Given the description of an element on the screen output the (x, y) to click on. 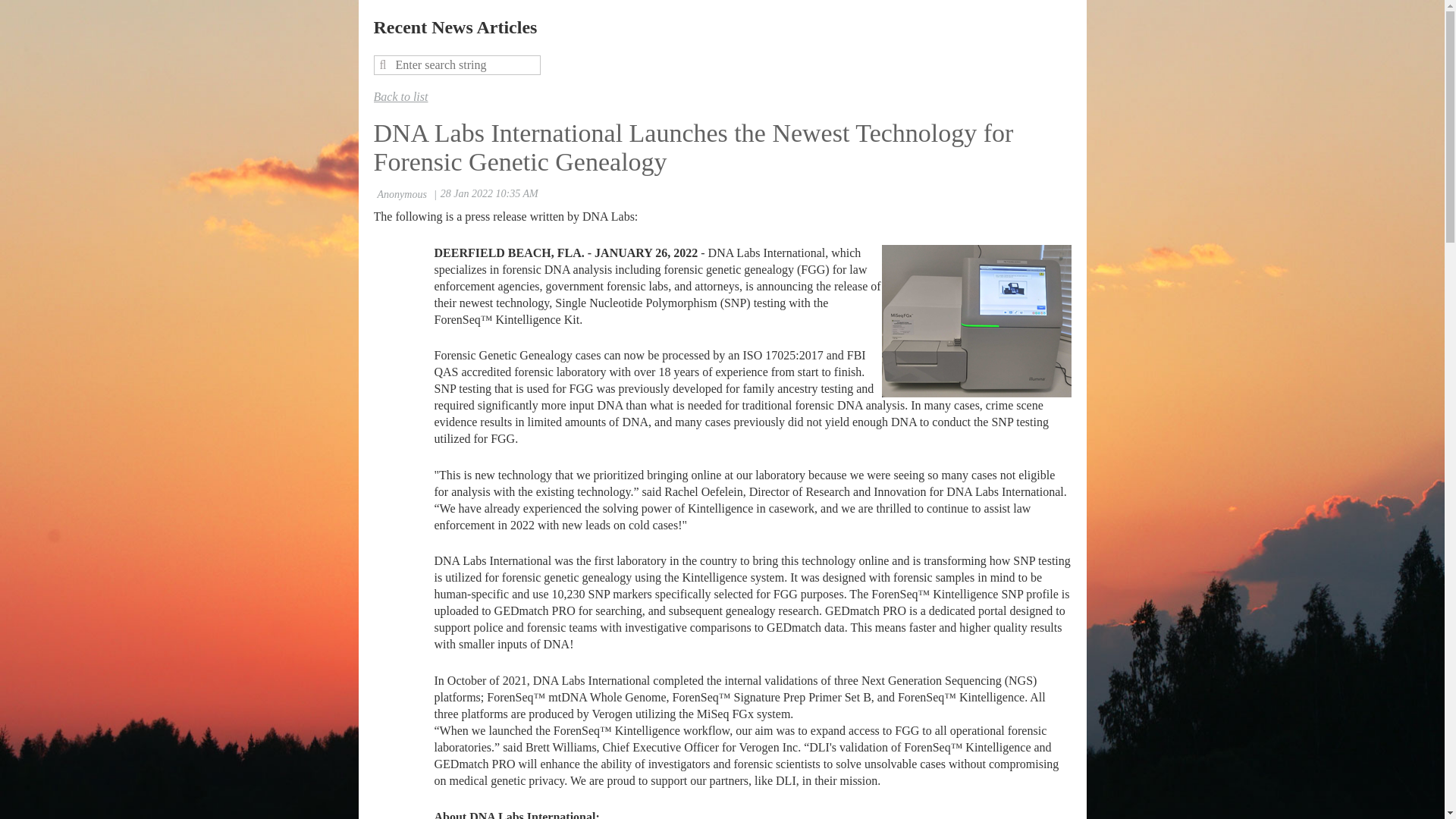
Back to list (400, 96)
